Given the description of an element on the screen output the (x, y) to click on. 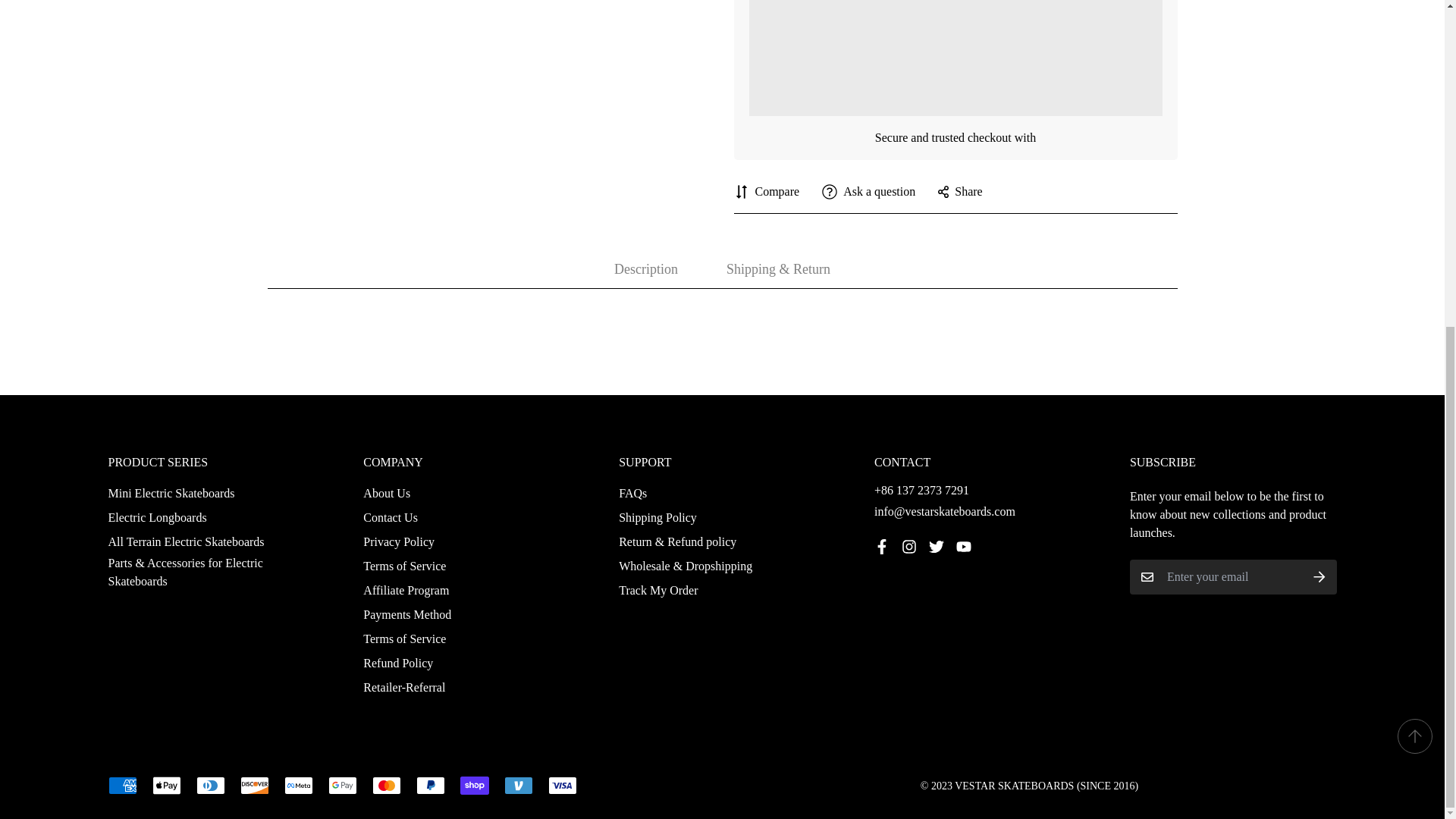
1 (990, 308)
